Given the description of an element on the screen output the (x, y) to click on. 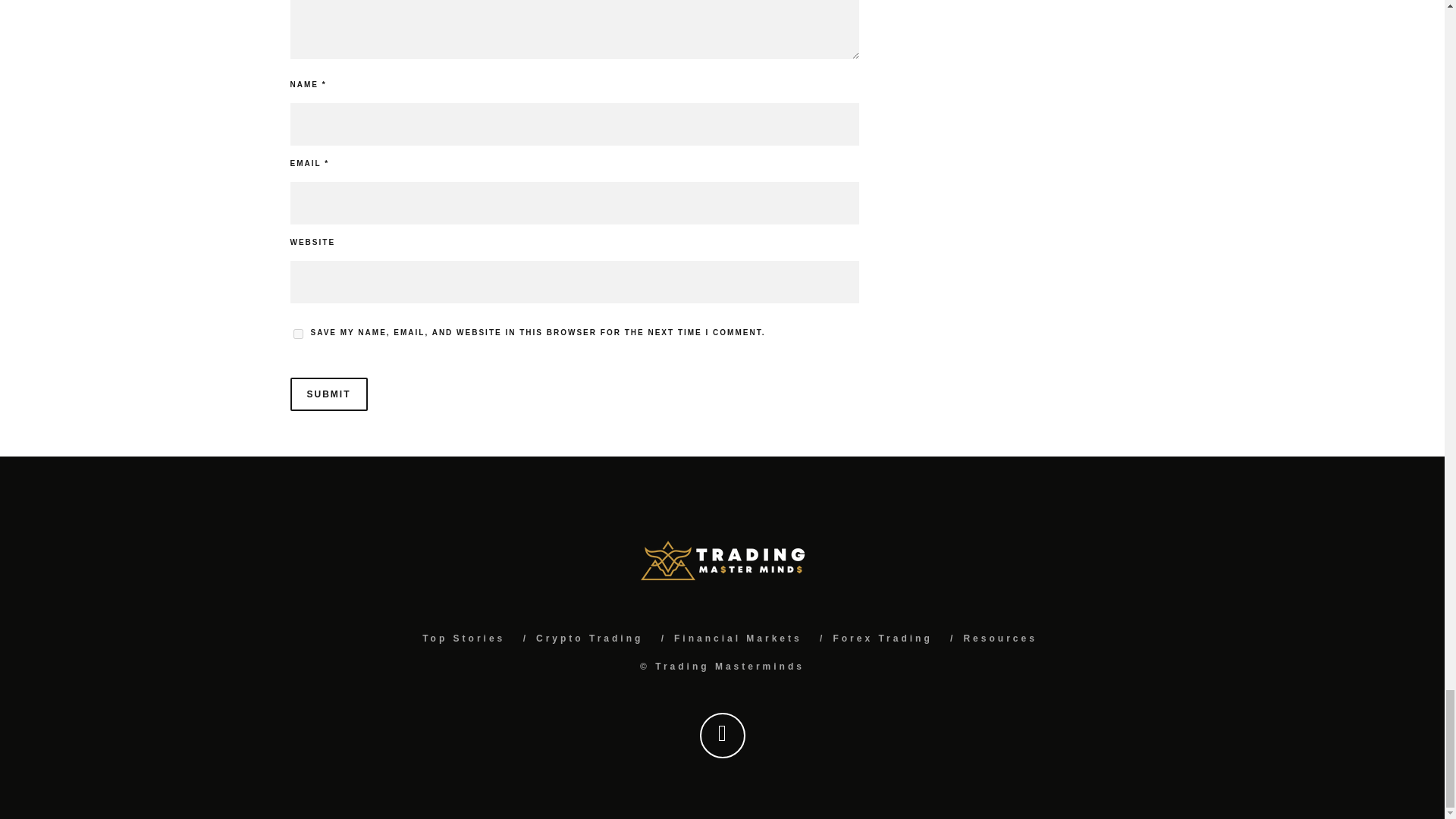
yes (297, 334)
Submit (327, 394)
